Given the description of an element on the screen output the (x, y) to click on. 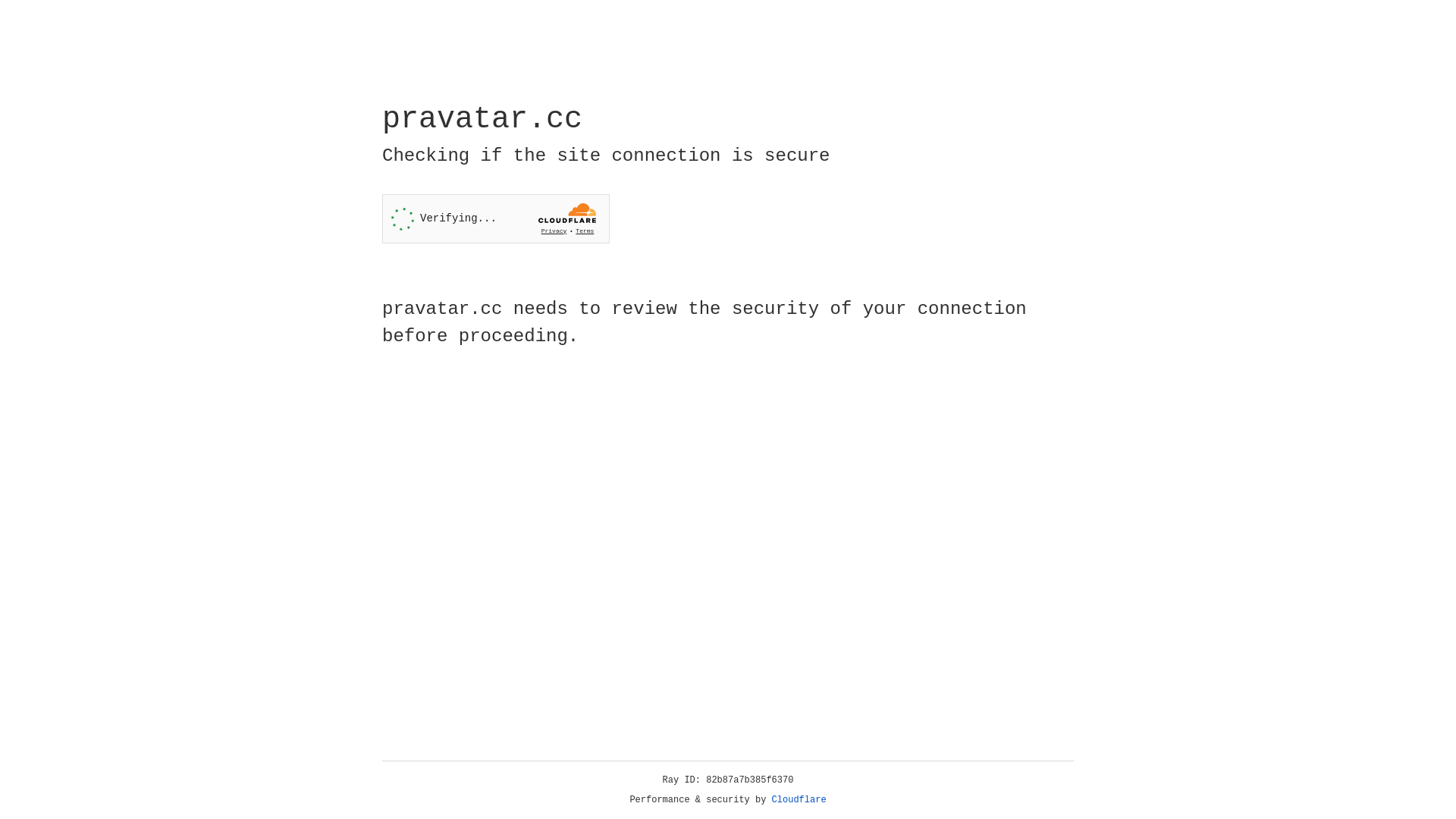
Widget containing a Cloudflare security challenge Element type: hover (495, 218)
Cloudflare Element type: text (798, 799)
